Given the description of an element on the screen output the (x, y) to click on. 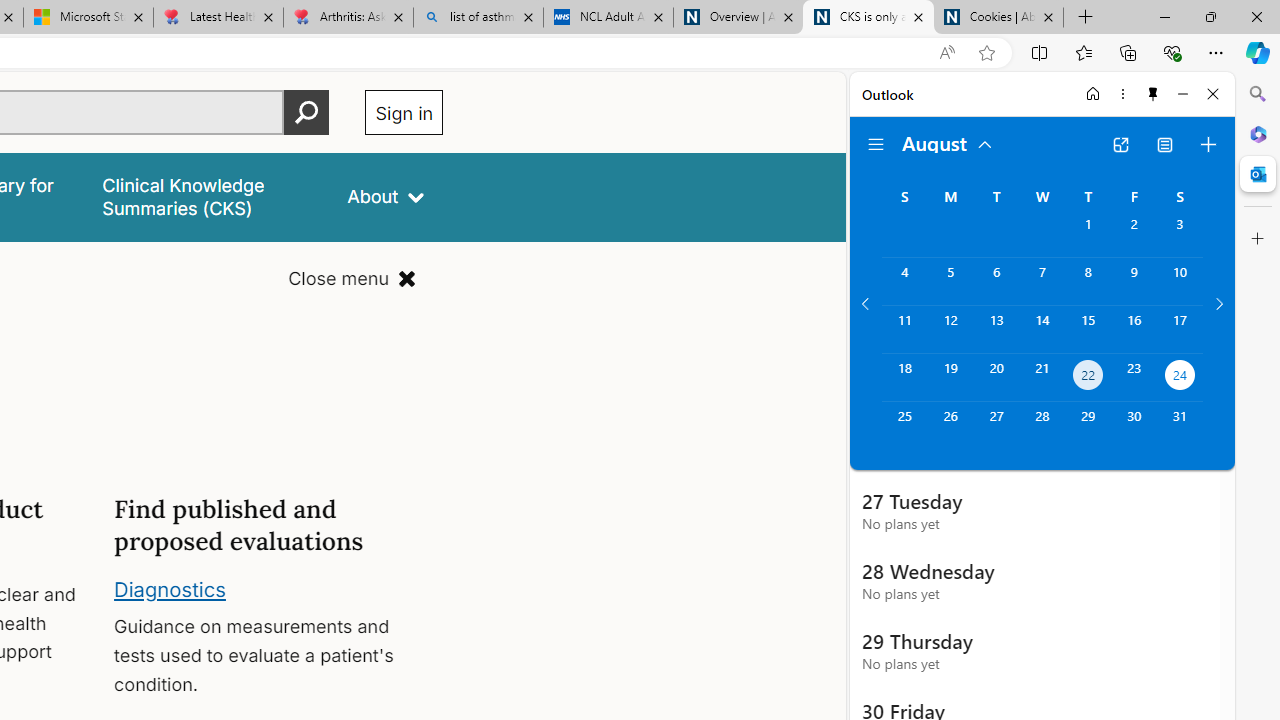
Wednesday, August 7, 2024.  (1042, 281)
Friday, August 30, 2024.  (1134, 425)
Sunday, August 18, 2024.  (904, 377)
Saturday, August 17, 2024.  (1180, 329)
Perform search (307, 112)
Wednesday, August 14, 2024.  (1042, 329)
Saturday, August 24, 2024. Date selected.  (1180, 377)
Friday, August 16, 2024.  (1134, 329)
CKS is only available in the UK | NICE (868, 17)
Tuesday, August 27, 2024.  (996, 425)
Sunday, August 4, 2024.  (904, 281)
